Given the description of an element on the screen output the (x, y) to click on. 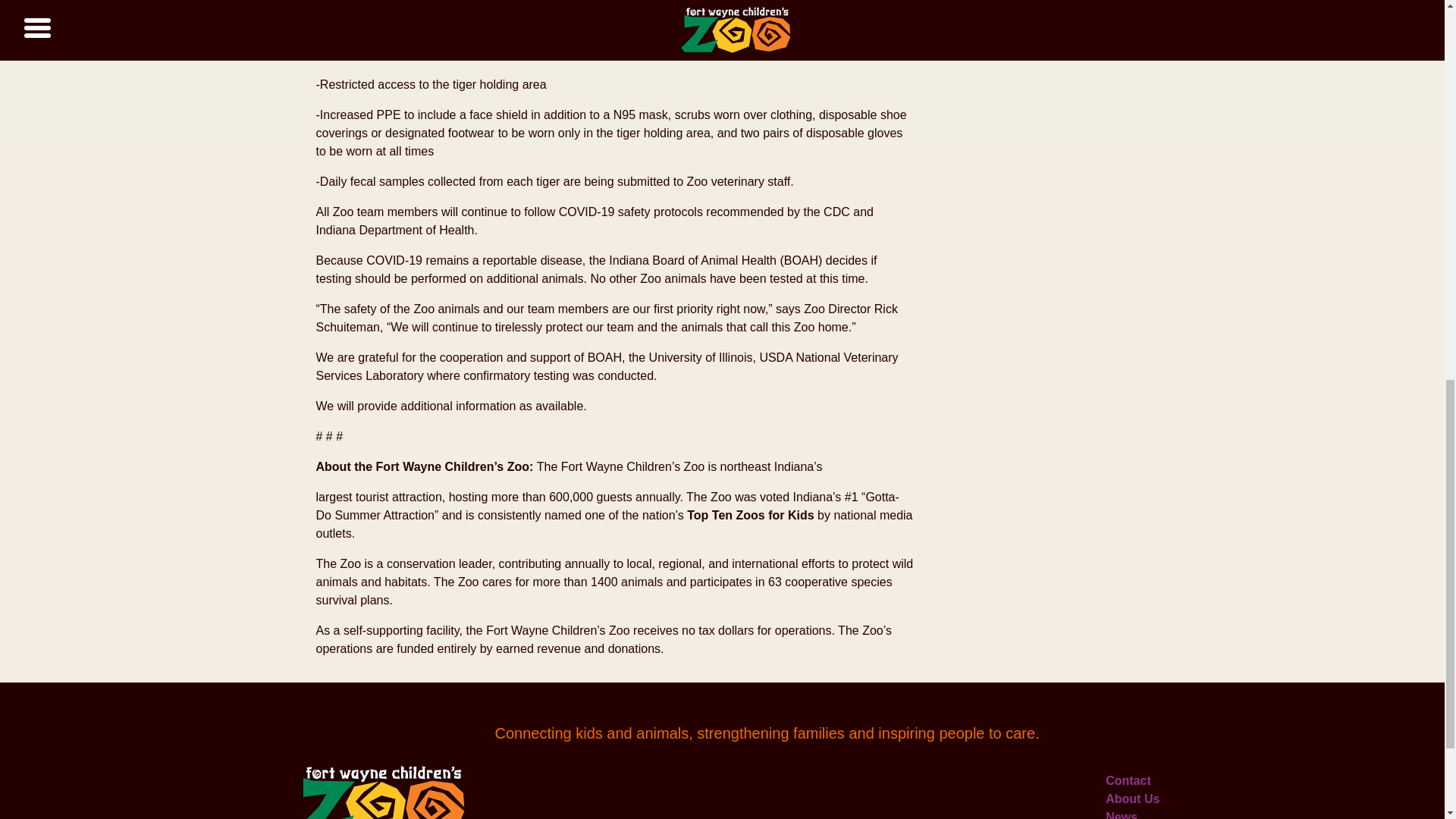
Go to home page (380, 791)
About Us (1131, 798)
News (1121, 814)
Contact (1128, 780)
